Given the description of an element on the screen output the (x, y) to click on. 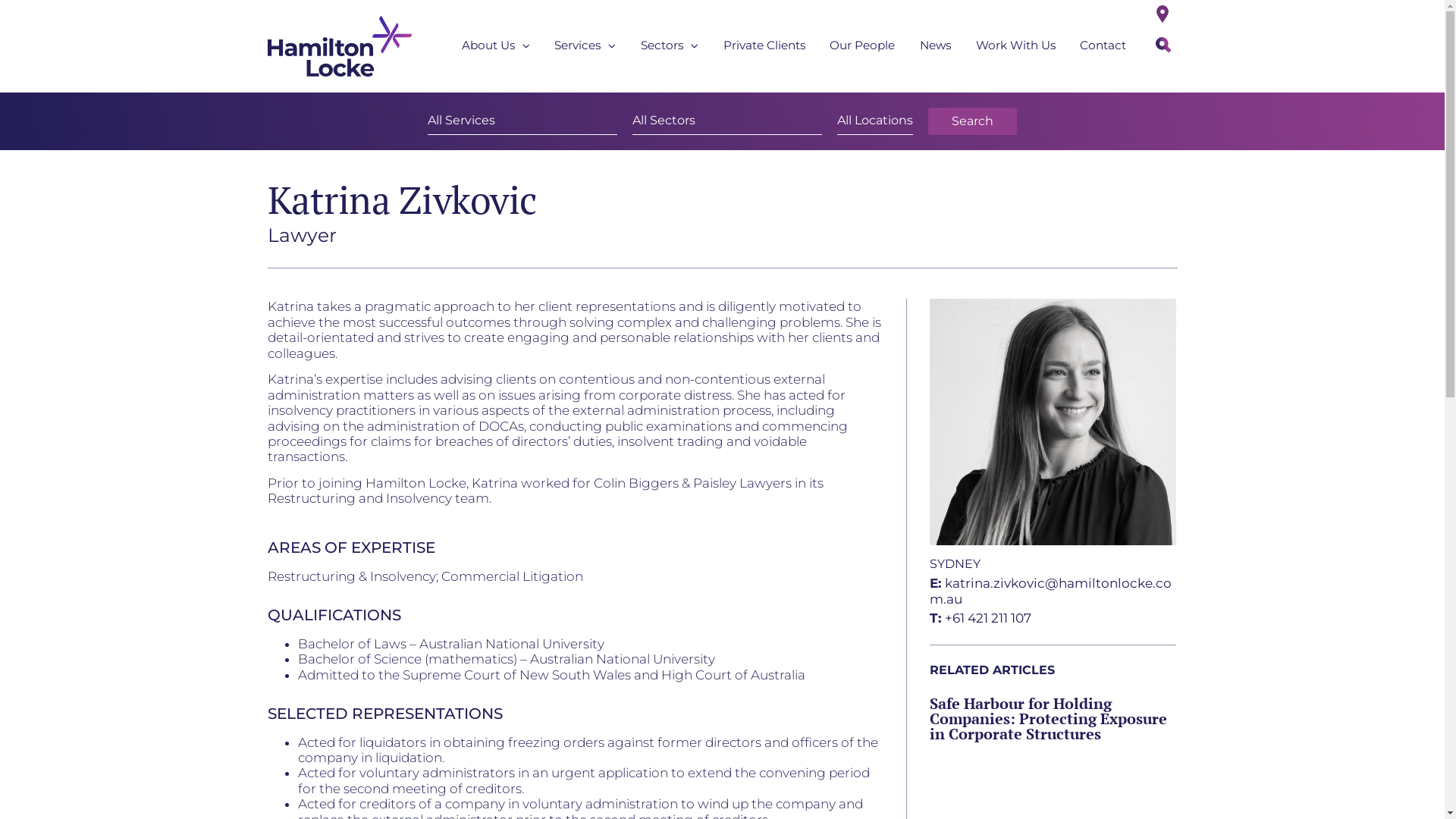
T:+61 421 211 107 Element type: text (980, 617)
Contact Element type: text (1103, 46)
Sectors Element type: text (669, 46)
Search Element type: text (972, 120)
Private Clients Element type: text (763, 46)
Work With Us Element type: text (1015, 46)
E:katrina.zivkovic@hamiltonlocke.com.au Element type: text (1052, 590)
About Us Element type: text (495, 46)
Our People Element type: text (862, 46)
Services Element type: text (585, 46)
News Element type: text (935, 46)
